Given the description of an element on the screen output the (x, y) to click on. 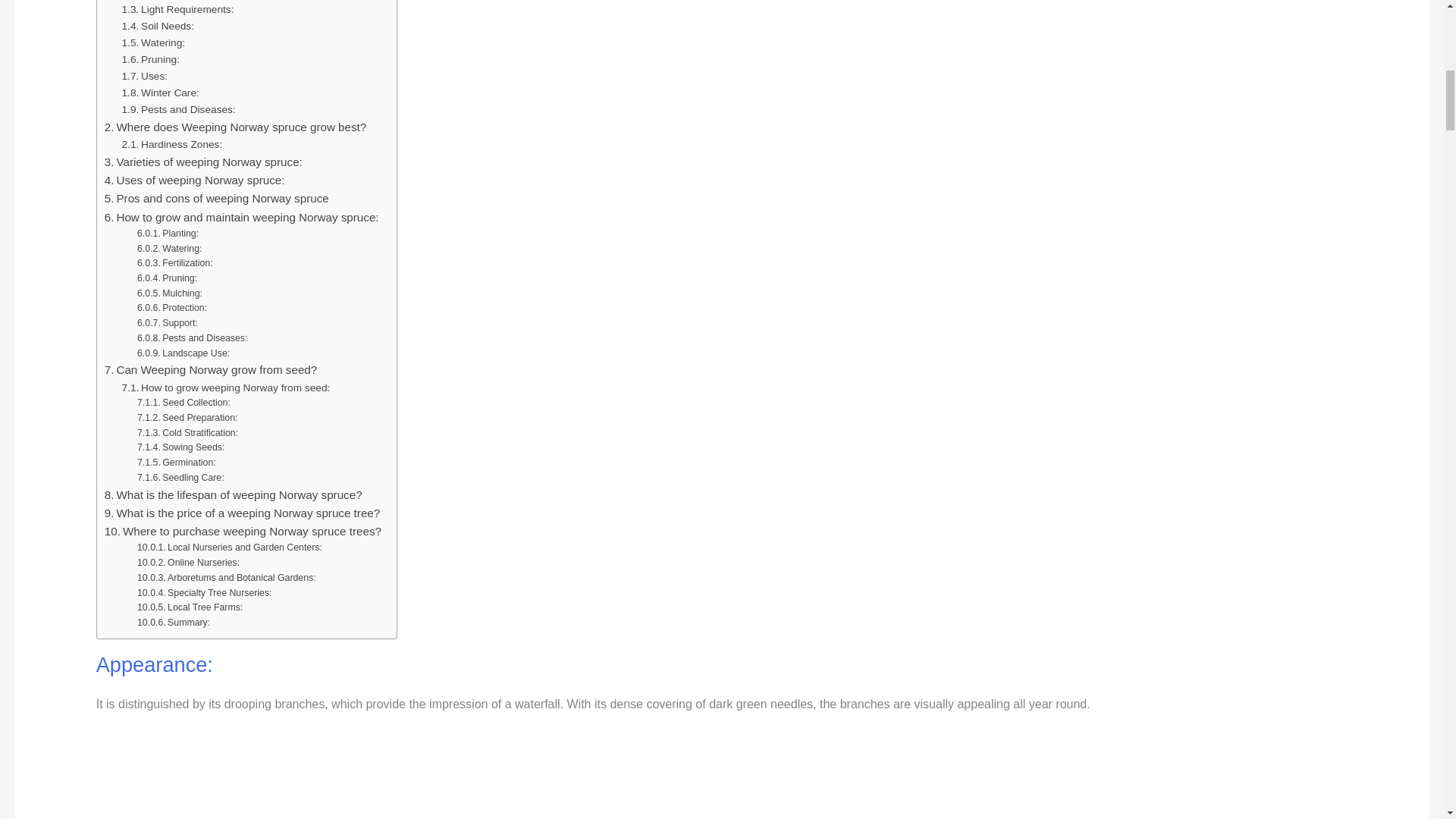
Watering: (154, 43)
Pests and Diseases: (178, 109)
Hardiness Zones: (172, 144)
Winter Care: (160, 93)
Where does Weeping Norway spruce grow best? (235, 126)
Soil Needs: (157, 26)
Uses: (145, 76)
Pruning: (151, 59)
Growth Rate: (162, 0)
Watering: (154, 43)
Light Requirements: (178, 9)
Uses: (145, 76)
Pruning: (151, 59)
Pests and Diseases: (178, 109)
Hardiness Zones: (172, 144)
